Given the description of an element on the screen output the (x, y) to click on. 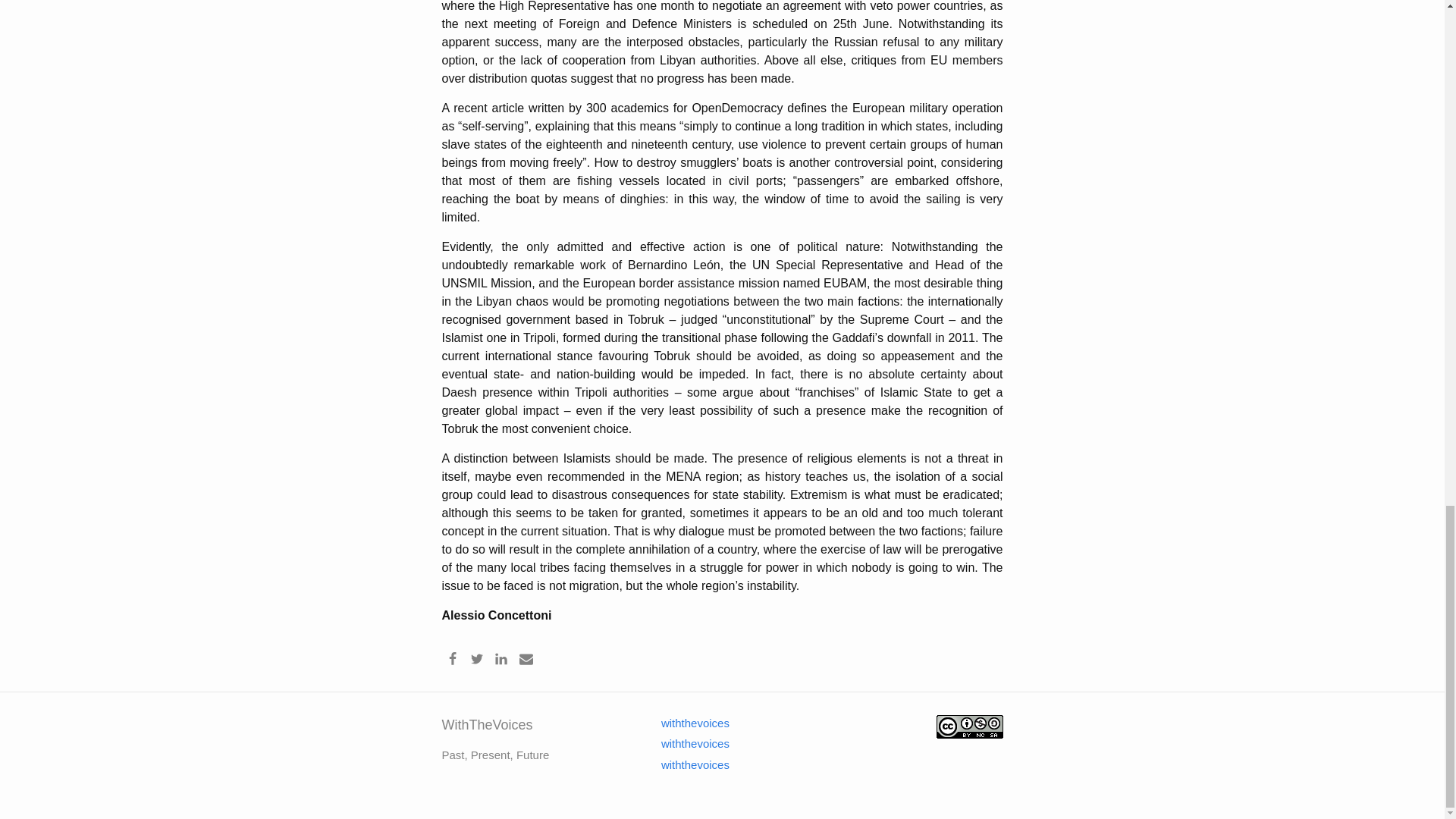
Share this on Twitter (476, 658)
Share this through Email (526, 658)
Share this on Facebook (452, 658)
withthevoices (685, 764)
withthevoices (685, 722)
Share this on Linkedin (501, 658)
withthevoices (685, 743)
